Given the description of an element on the screen output the (x, y) to click on. 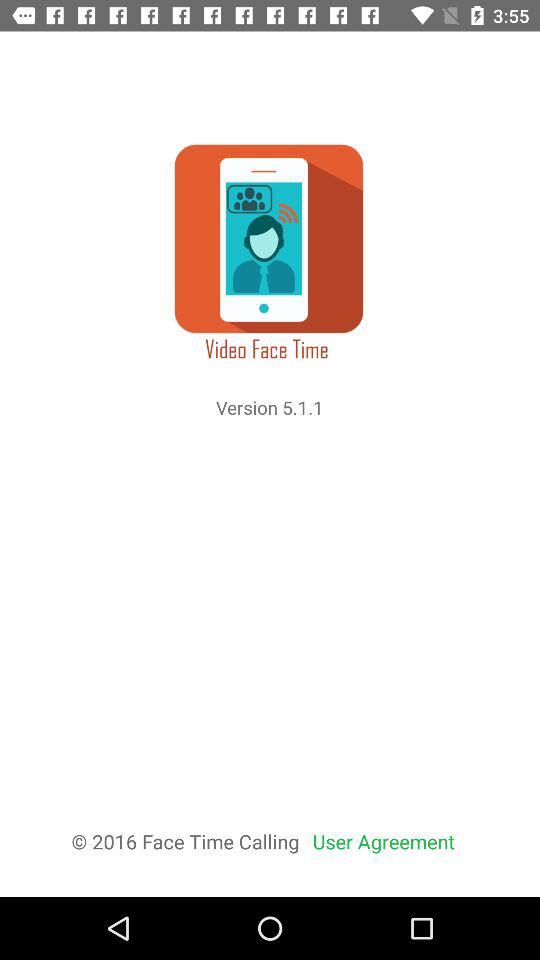
tap the user agreement item (383, 841)
